Given the description of an element on the screen output the (x, y) to click on. 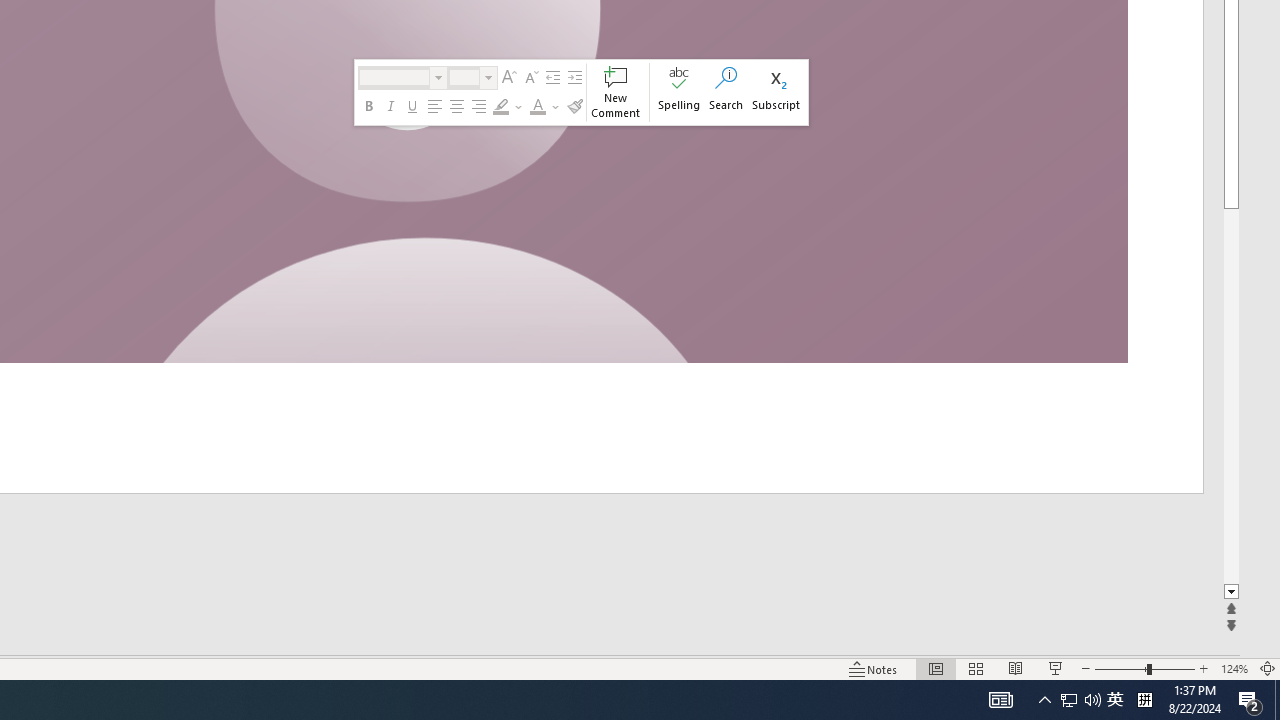
Spelling... (679, 92)
Text Highlight Color (501, 106)
Open (488, 78)
Underline (412, 106)
Decrease Indent (552, 78)
Font Color (545, 106)
Slide Sorter (975, 668)
Subscript (776, 92)
Decrease Font Size (530, 78)
More Options (556, 106)
Class: NetUIComboboxAnchor (472, 78)
Bold (369, 106)
Class: NetUITextbox (464, 77)
Zoom 124% (1234, 668)
Align Left (434, 106)
